Given the description of an element on the screen output the (x, y) to click on. 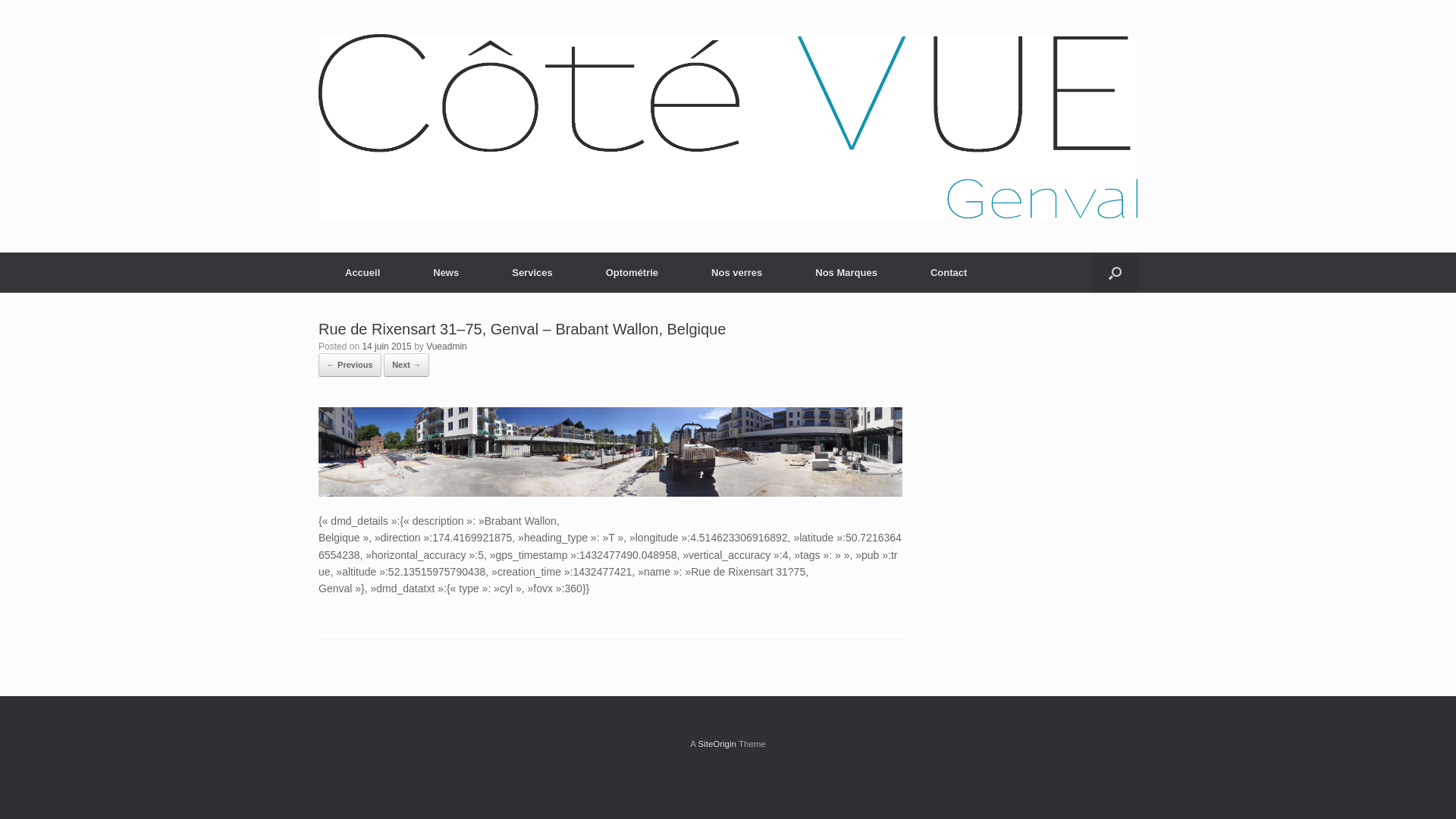
Contact Element type: text (948, 272)
Nos Marques Element type: text (845, 272)
Vueadmin Element type: text (446, 346)
14 juin 2015 Element type: text (386, 346)
Services Element type: text (532, 272)
Accueil Element type: text (362, 272)
Nos verres Element type: text (736, 272)
News Element type: text (445, 272)
SiteOrigin Element type: text (716, 743)
